Given the description of an element on the screen output the (x, y) to click on. 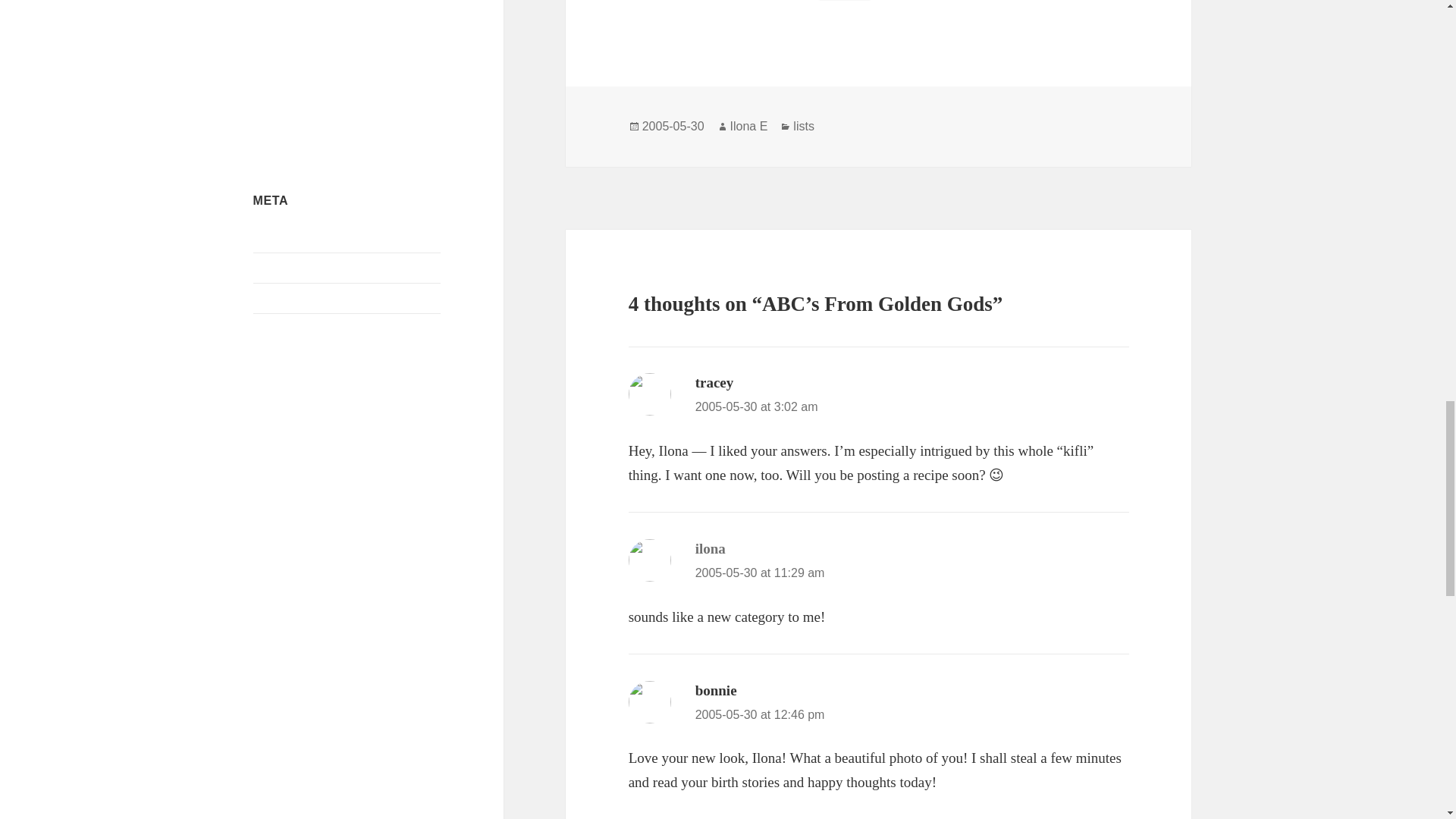
WordPress.org (288, 327)
Entries feed (282, 267)
Log in (269, 236)
Facebook (277, 101)
Comments feed (291, 297)
FACEBOOK (289, 65)
